Given the description of an element on the screen output the (x, y) to click on. 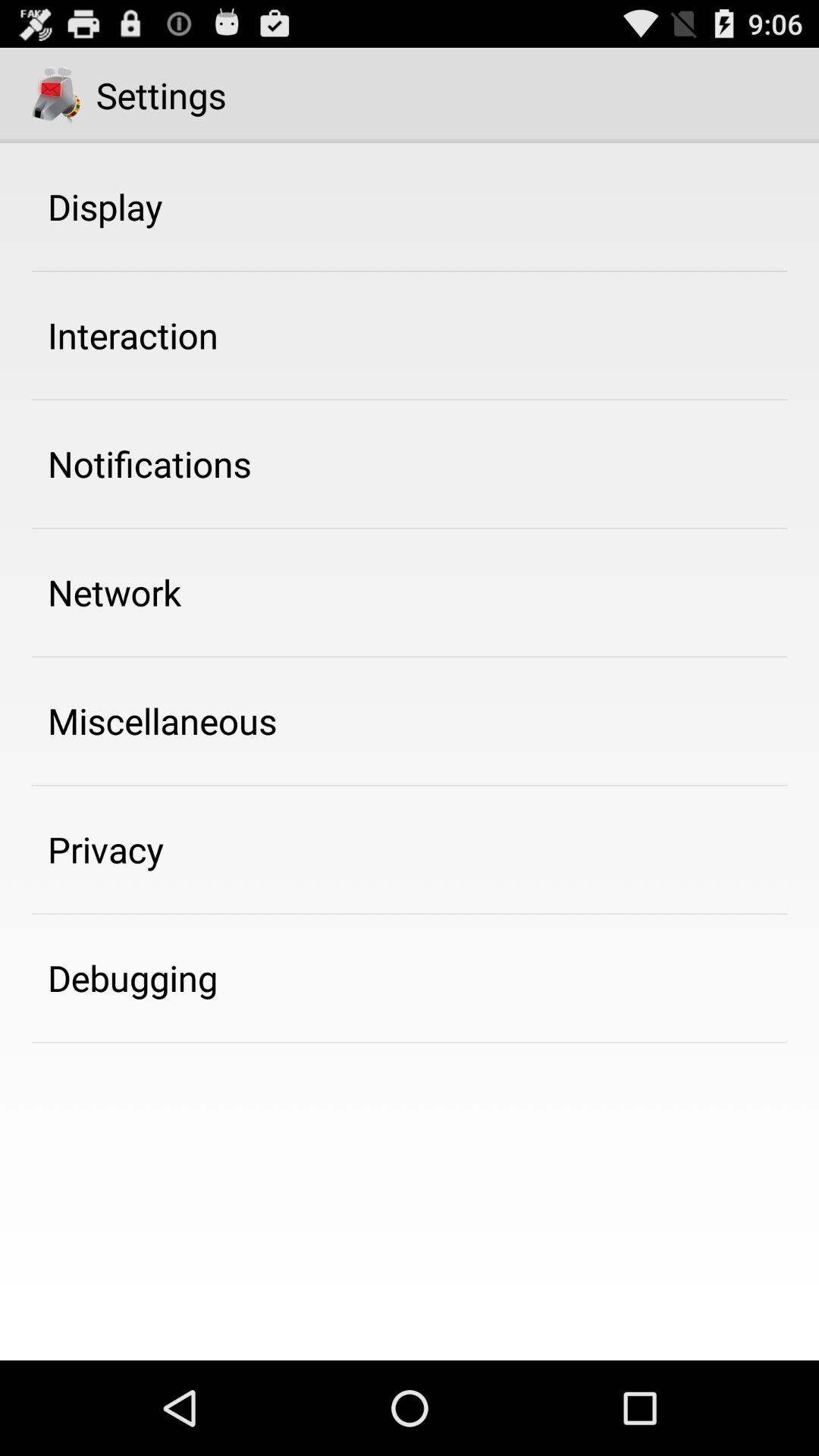
press network app (114, 592)
